Given the description of an element on the screen output the (x, y) to click on. 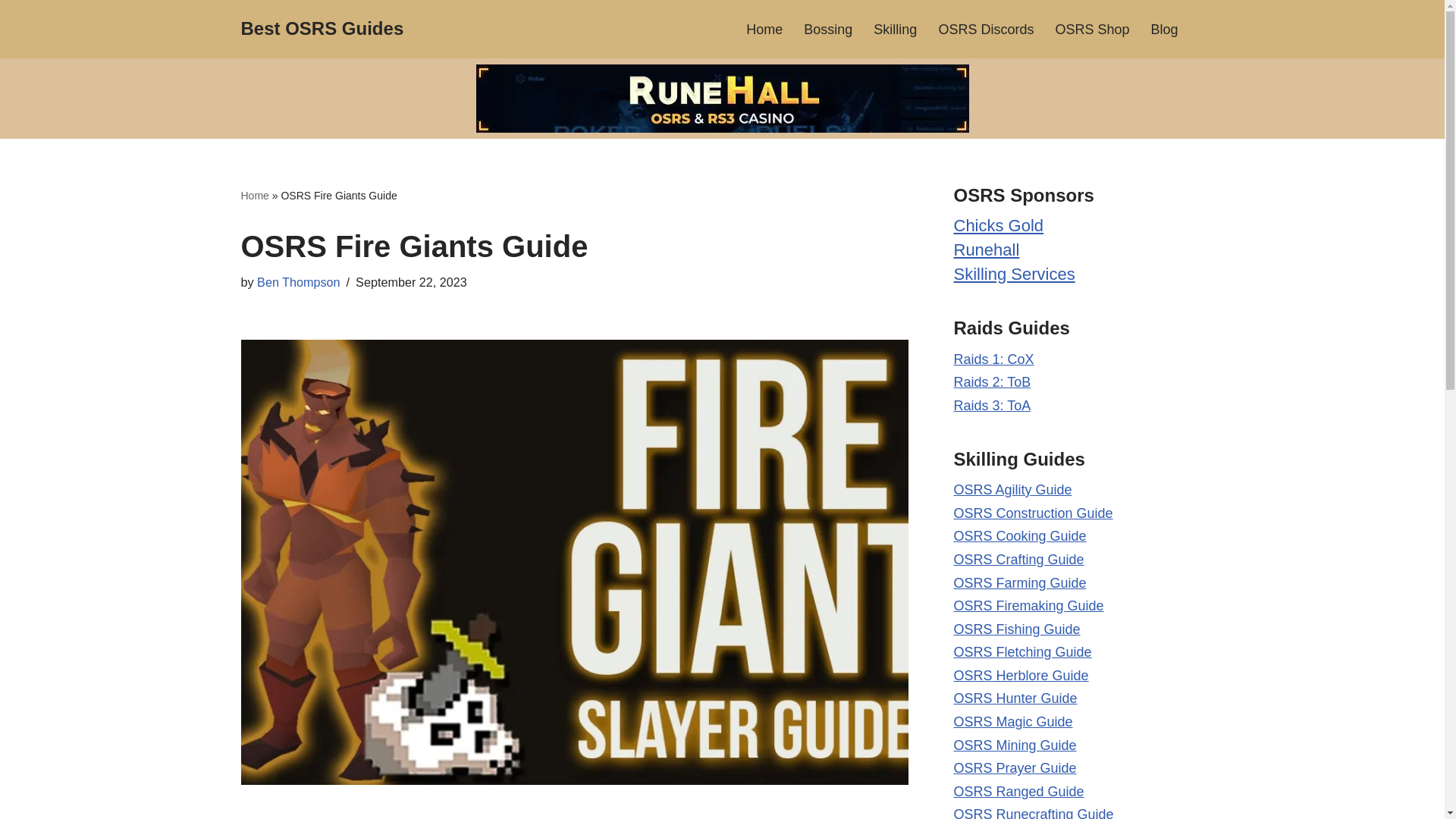
Skip to content (11, 31)
Home (255, 195)
OSRS Hunter Guide (1015, 698)
Posts by Ben Thompson (298, 282)
Bossing (827, 29)
OSRS Fletching Guide (1022, 652)
OSRS Farming Guide (1019, 582)
Skilling Services (1014, 273)
OSRS Herblore Guide (1021, 675)
OSRS Shop (1091, 29)
OSRS Crafting Guide (1018, 559)
OSRS Firemaking Guide (1028, 605)
Best OSRS Guides (322, 29)
Blog (1163, 29)
OSRS Cooking Guide (1019, 535)
